Given the description of an element on the screen output the (x, y) to click on. 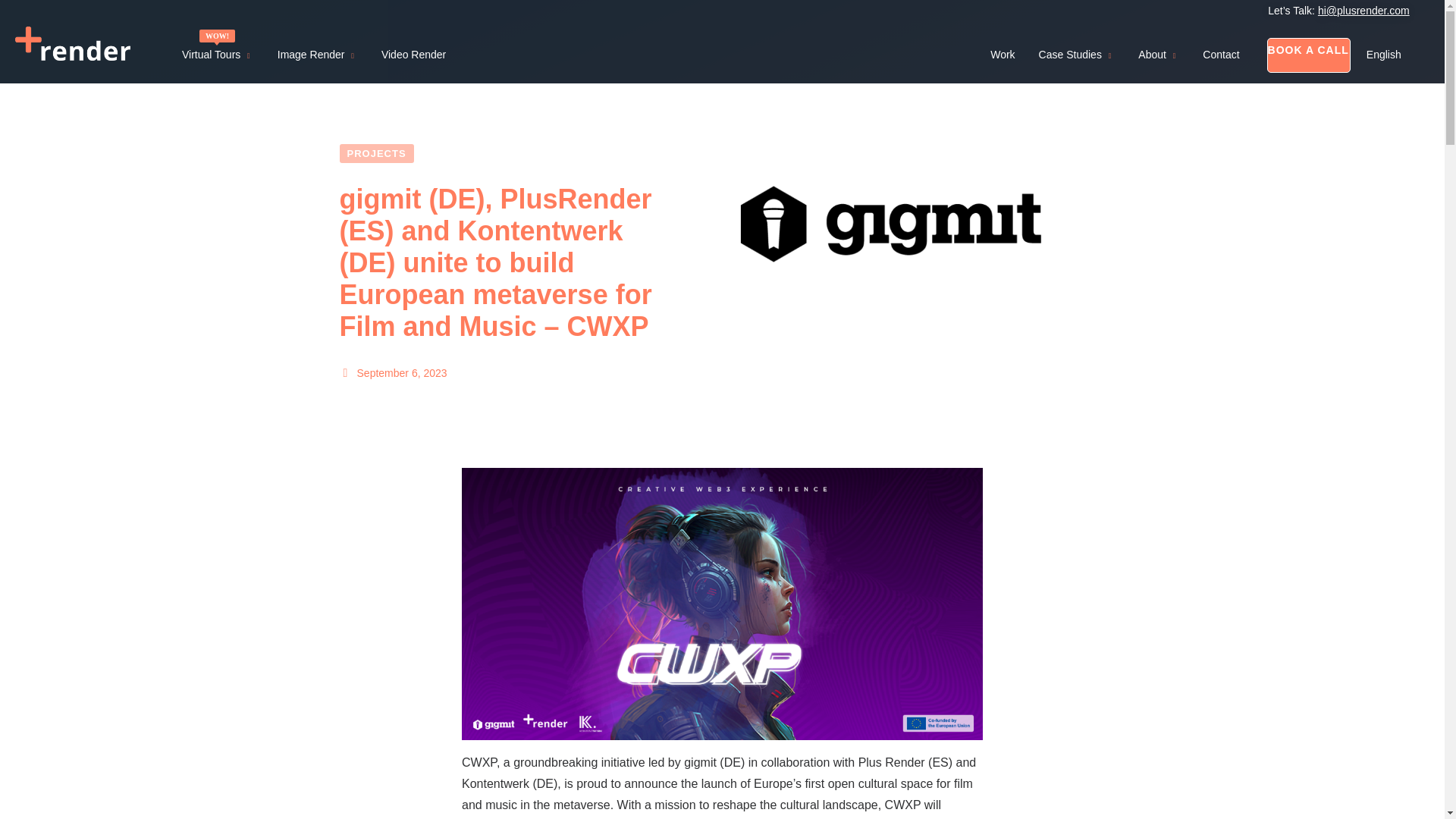
Virtual Tours (218, 54)
English (1383, 54)
BOOK A CALL (1308, 49)
About (1158, 54)
Contact (1220, 54)
Case Studies (1076, 54)
English (1383, 54)
Video Render (413, 54)
Image Render (317, 54)
Work (1002, 54)
